Given the description of an element on the screen output the (x, y) to click on. 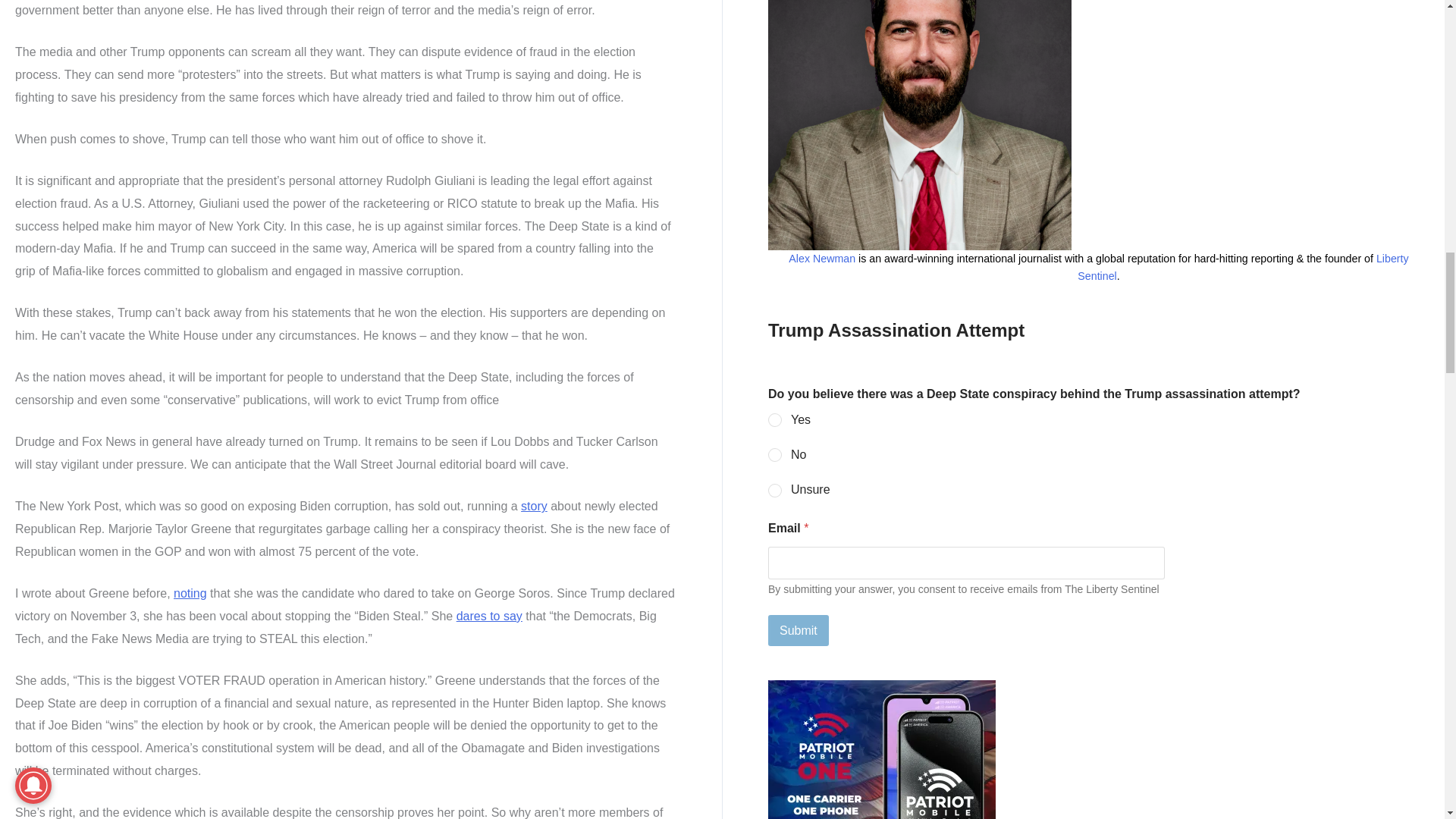
Yes (775, 420)
No (775, 455)
Unsure (775, 491)
